Given the description of an element on the screen output the (x, y) to click on. 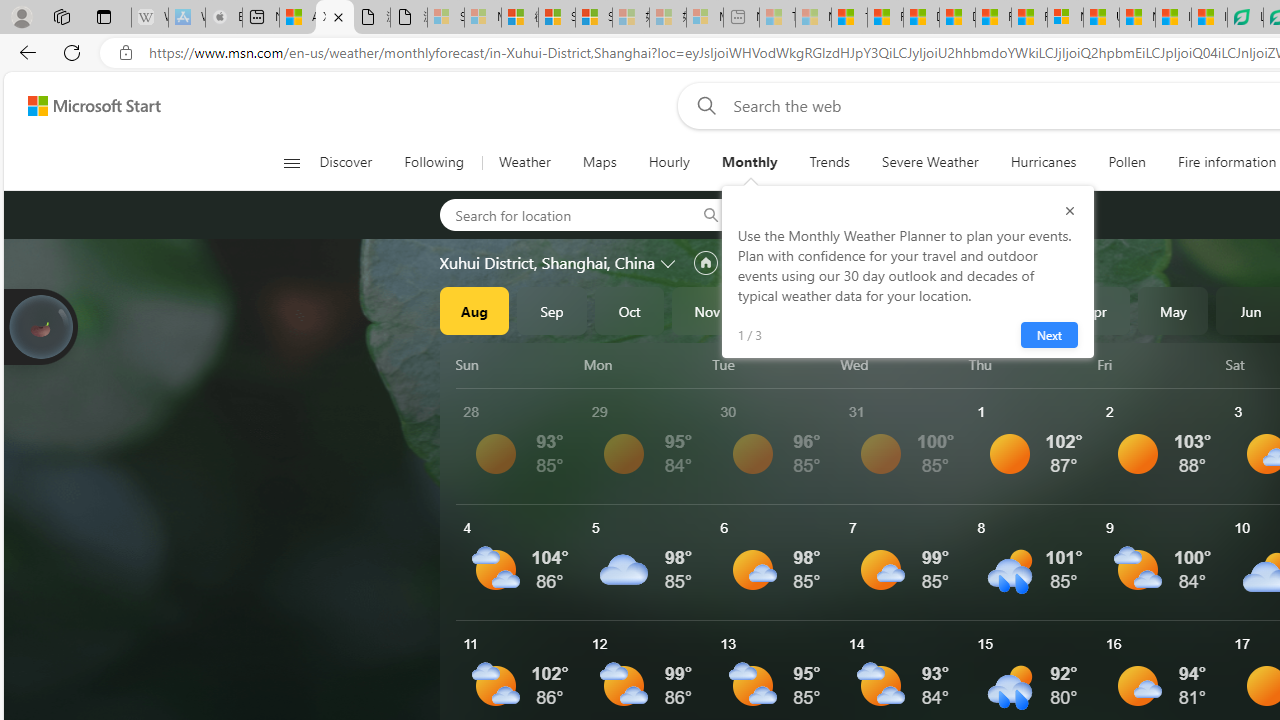
Trends (828, 162)
Pollen (1126, 162)
Oct (629, 310)
Feb (939, 310)
Food and Drink - MSN (884, 17)
May (1173, 310)
2025 Jan (862, 310)
